Given the description of an element on the screen output the (x, y) to click on. 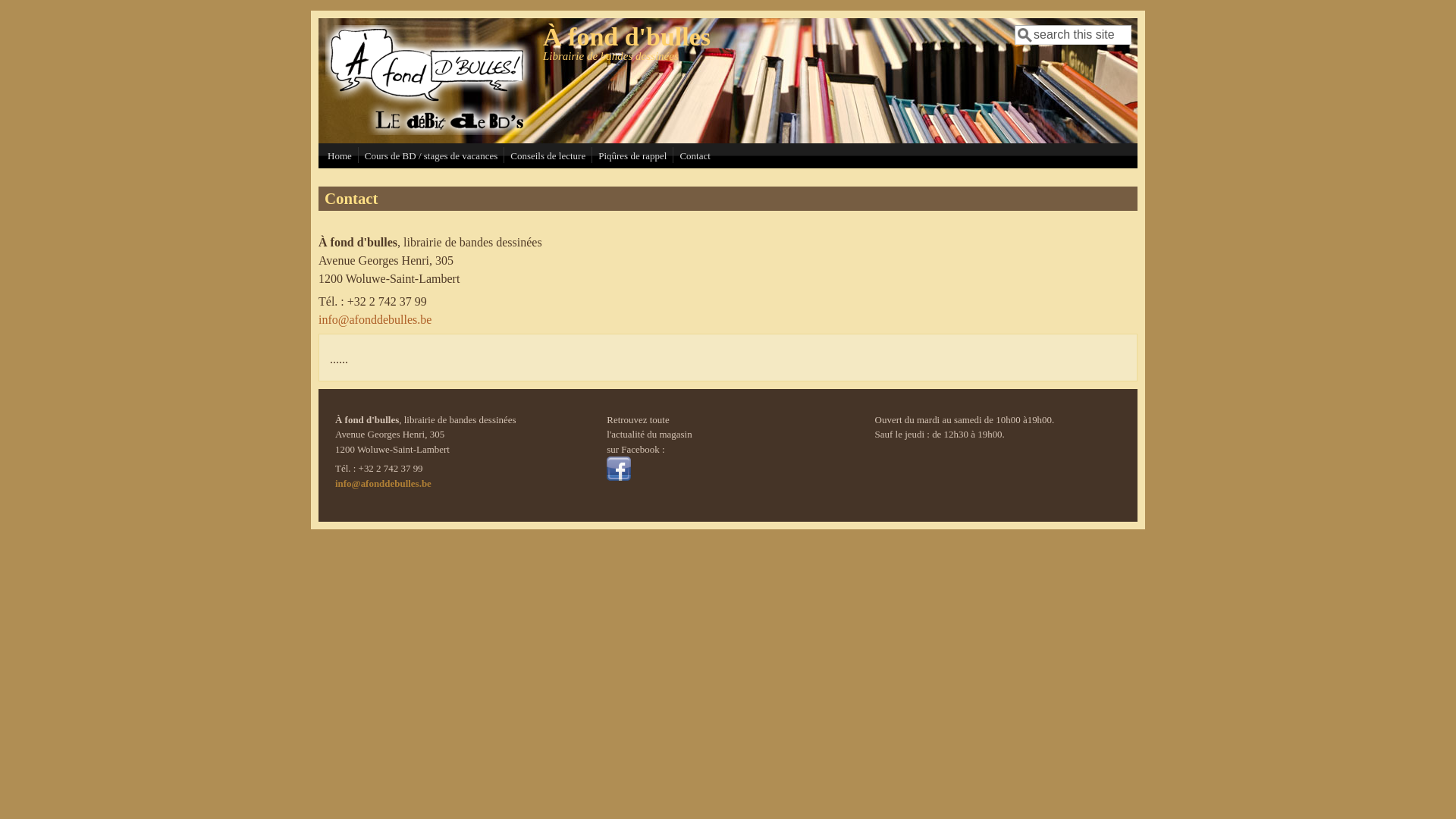
Conseils de lecture Element type: text (547, 155)
Home Element type: text (339, 155)
Accueil Element type: hover (429, 130)
Aller au contenu principal Element type: text (63, 10)
info@afonddebulles.be Element type: text (374, 319)
Contact Element type: text (694, 155)
Cours de BD / stages de vacances Element type: text (430, 155)
info@afonddebulles.be Element type: text (383, 483)
